Given the description of an element on the screen output the (x, y) to click on. 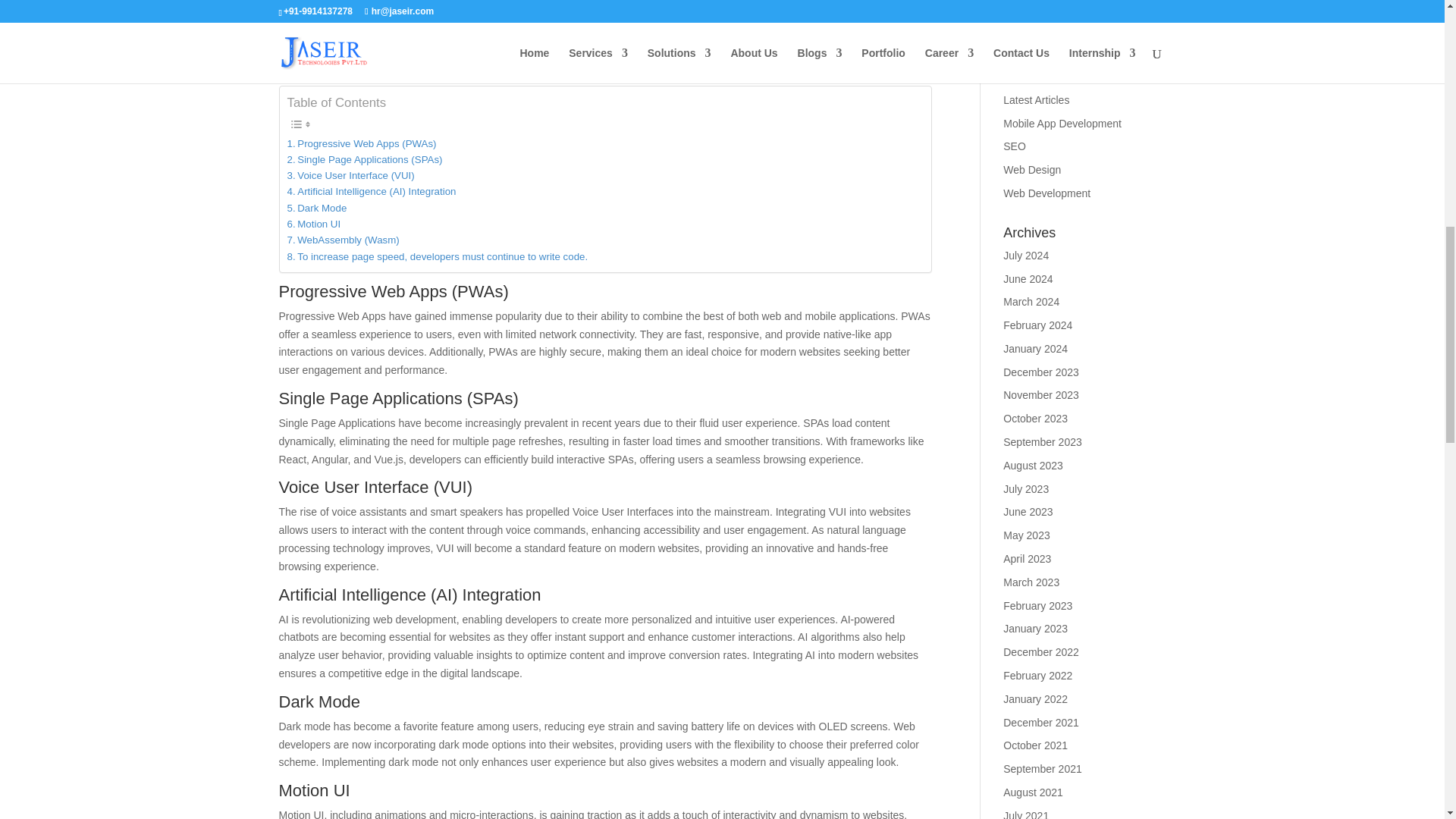
Dark Mode (316, 207)
Motion UI (313, 223)
